Given the description of an element on the screen output the (x, y) to click on. 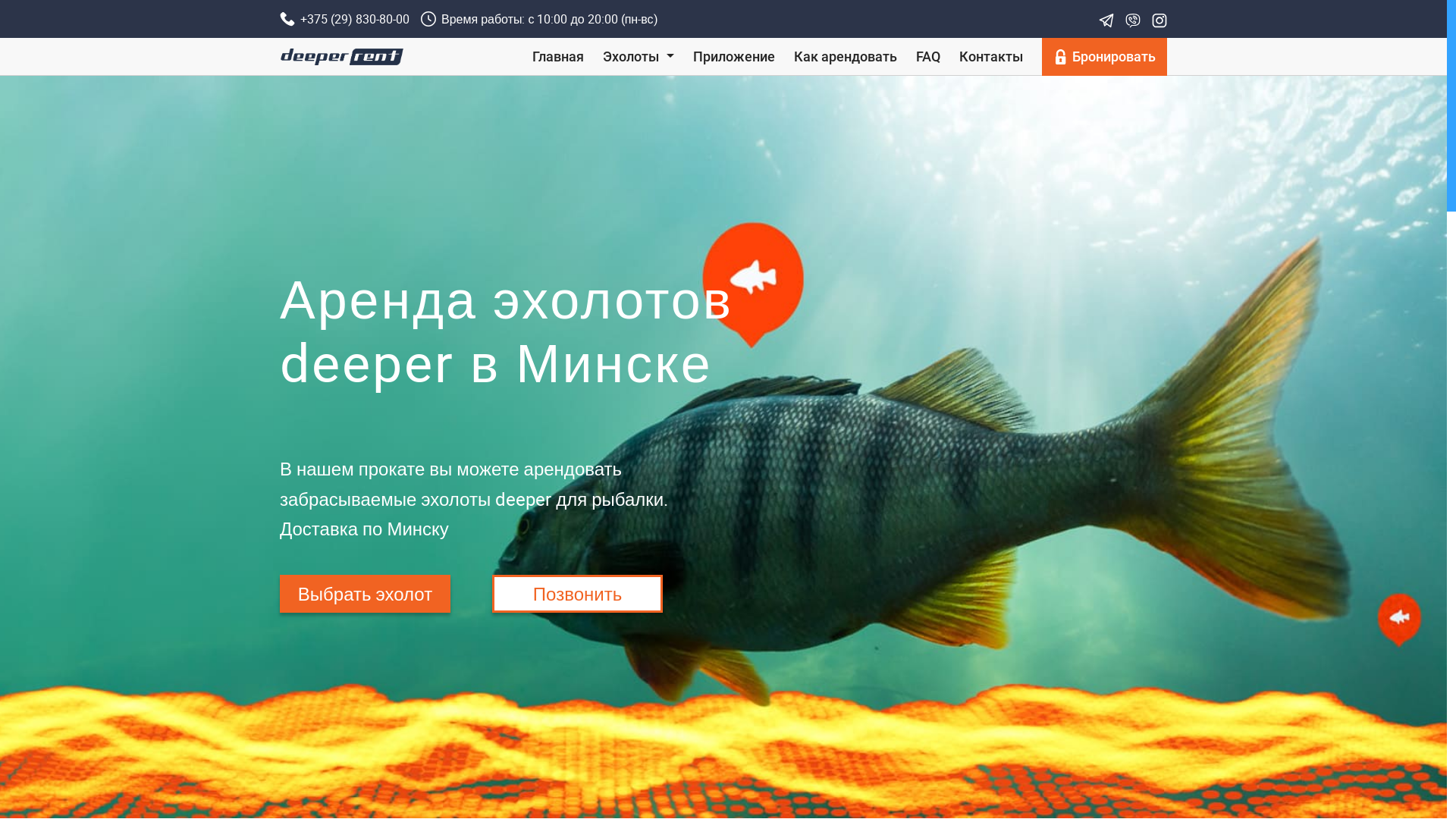
FAQ Element type: text (928, 56)
+375 (29) 830-80-00 Element type: text (344, 18)
